Given the description of an element on the screen output the (x, y) to click on. 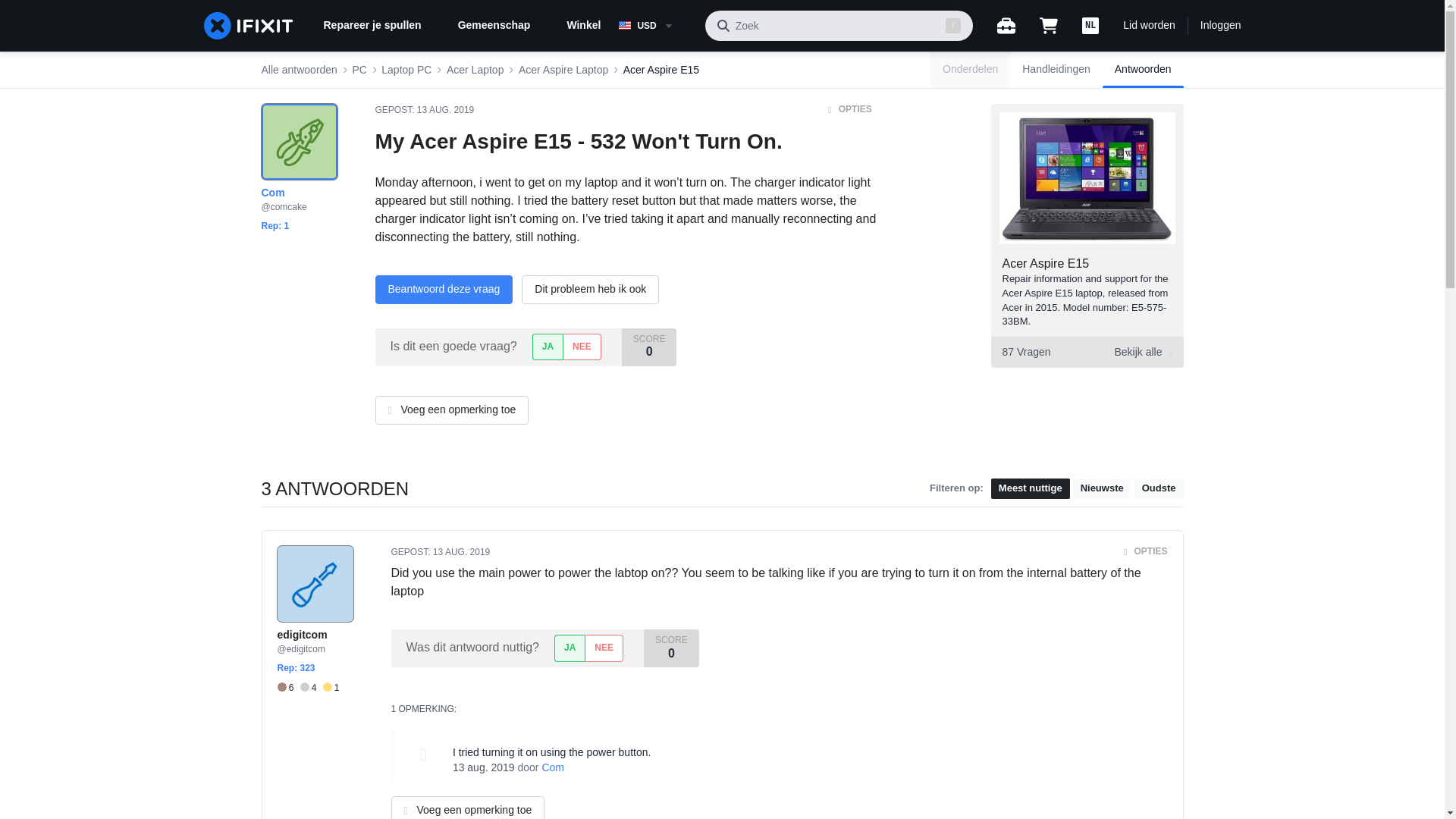
Acer Aspire Laptop (563, 69)
Acer Aspire E15 (1086, 351)
PC (1046, 263)
Lid worden (359, 69)
6 Brons badges (1148, 25)
Inloggen (288, 686)
Tue, 13 Aug 2019 13:42:09 -0700 (1220, 25)
Acer Laptop (445, 109)
Dit probleem heb ik ook (474, 69)
